Given the description of an element on the screen output the (x, y) to click on. 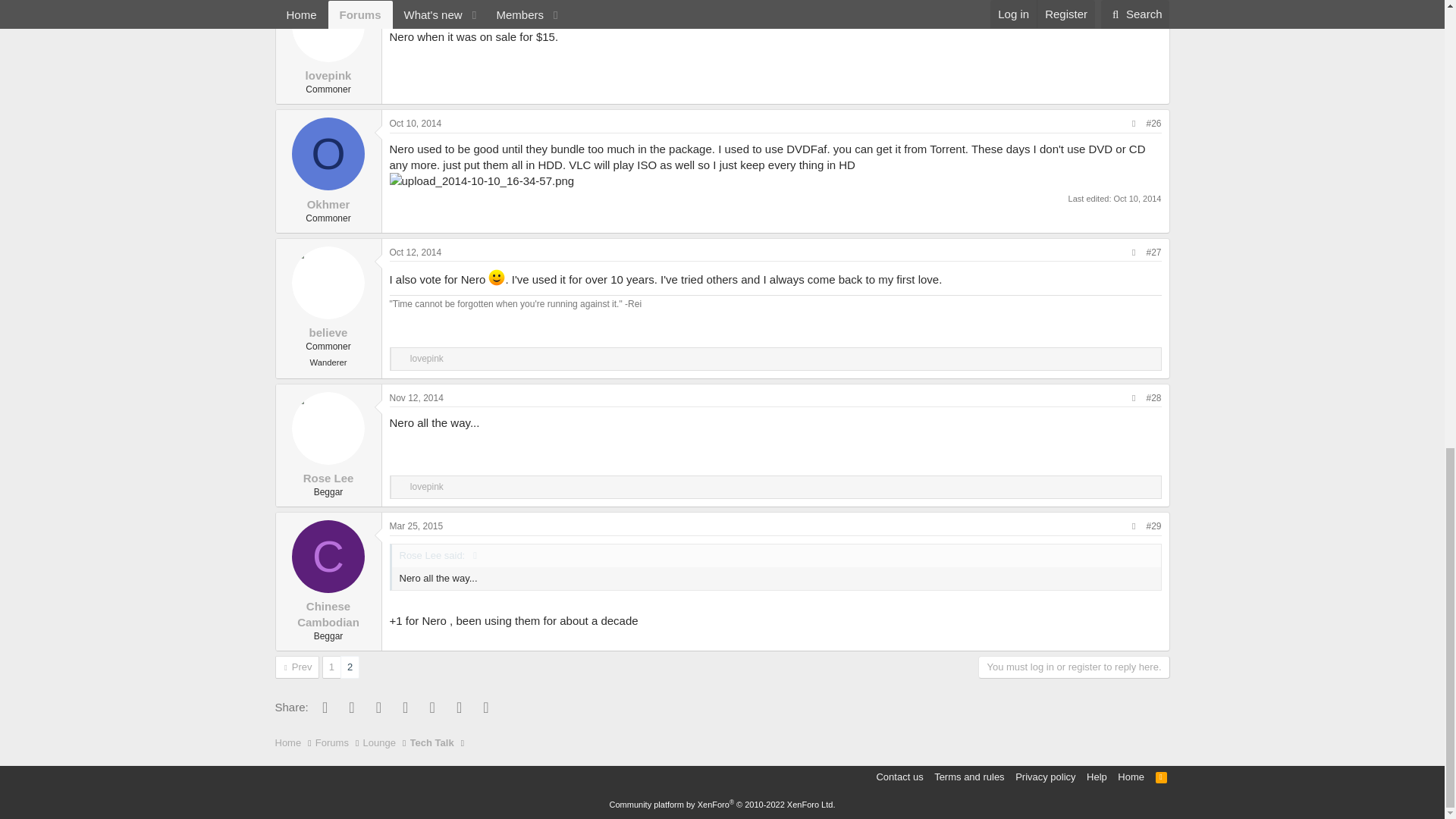
Oct 10, 2014 at 1:36 AM (416, 122)
Oct 3, 2014 at 8:50 AM (413, 0)
